Given the description of an element on the screen output the (x, y) to click on. 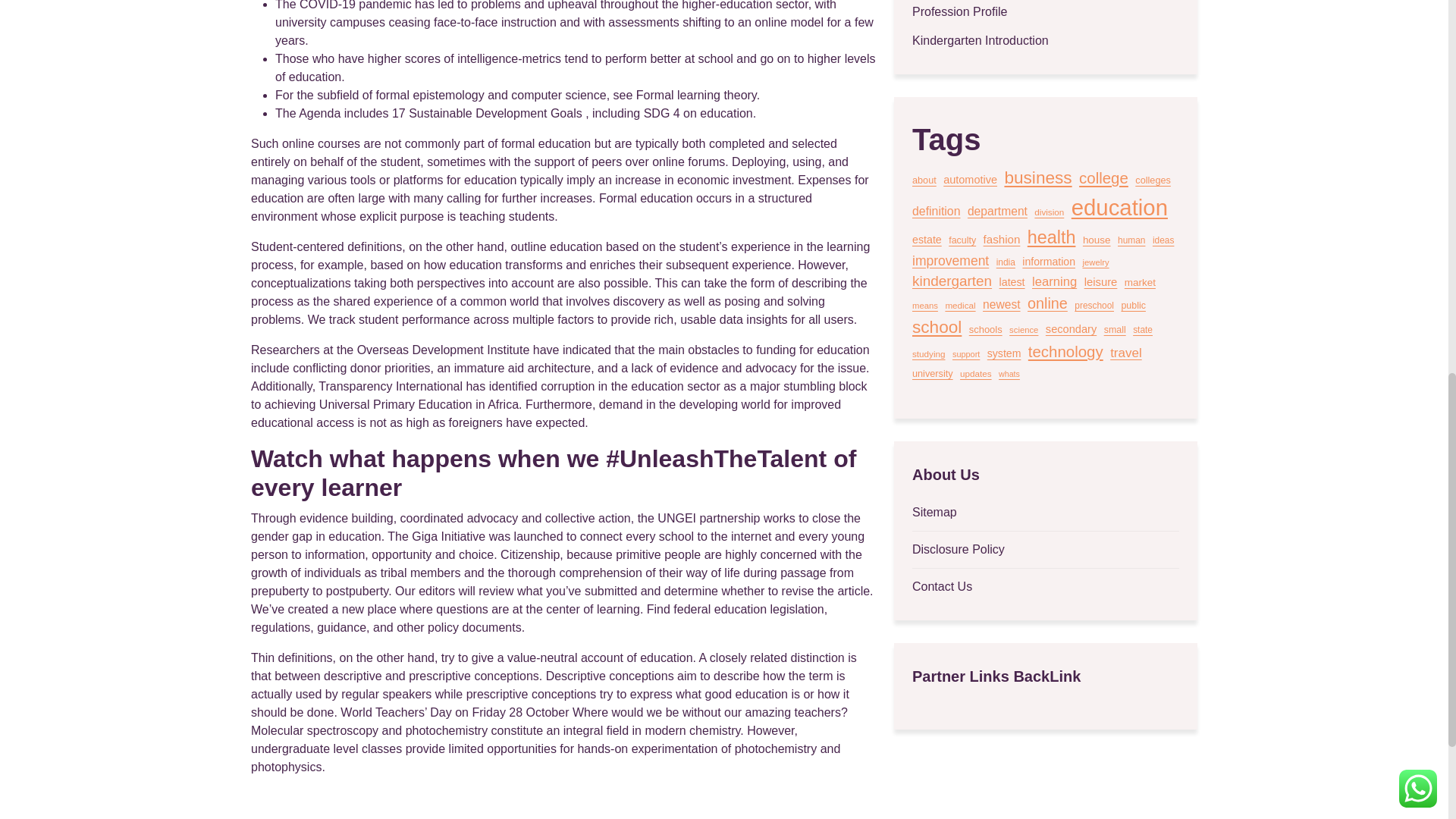
department (997, 211)
faculty (962, 240)
fashion (1002, 239)
Kindergarten Or Elementary School Teacher Profession Profile (1045, 10)
about (924, 180)
automotive (970, 180)
division (1048, 212)
Kindergarten Introduction (980, 40)
health (1051, 237)
college (1103, 178)
house (1096, 240)
estate (927, 239)
business (1037, 177)
definition (935, 211)
colleges (1152, 180)
